Given the description of an element on the screen output the (x, y) to click on. 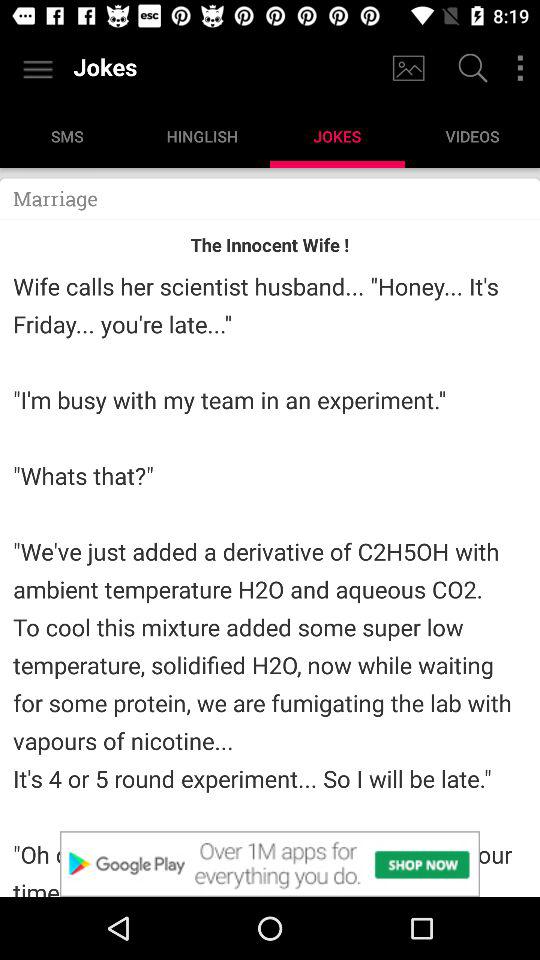
description (270, 864)
